Given the description of an element on the screen output the (x, y) to click on. 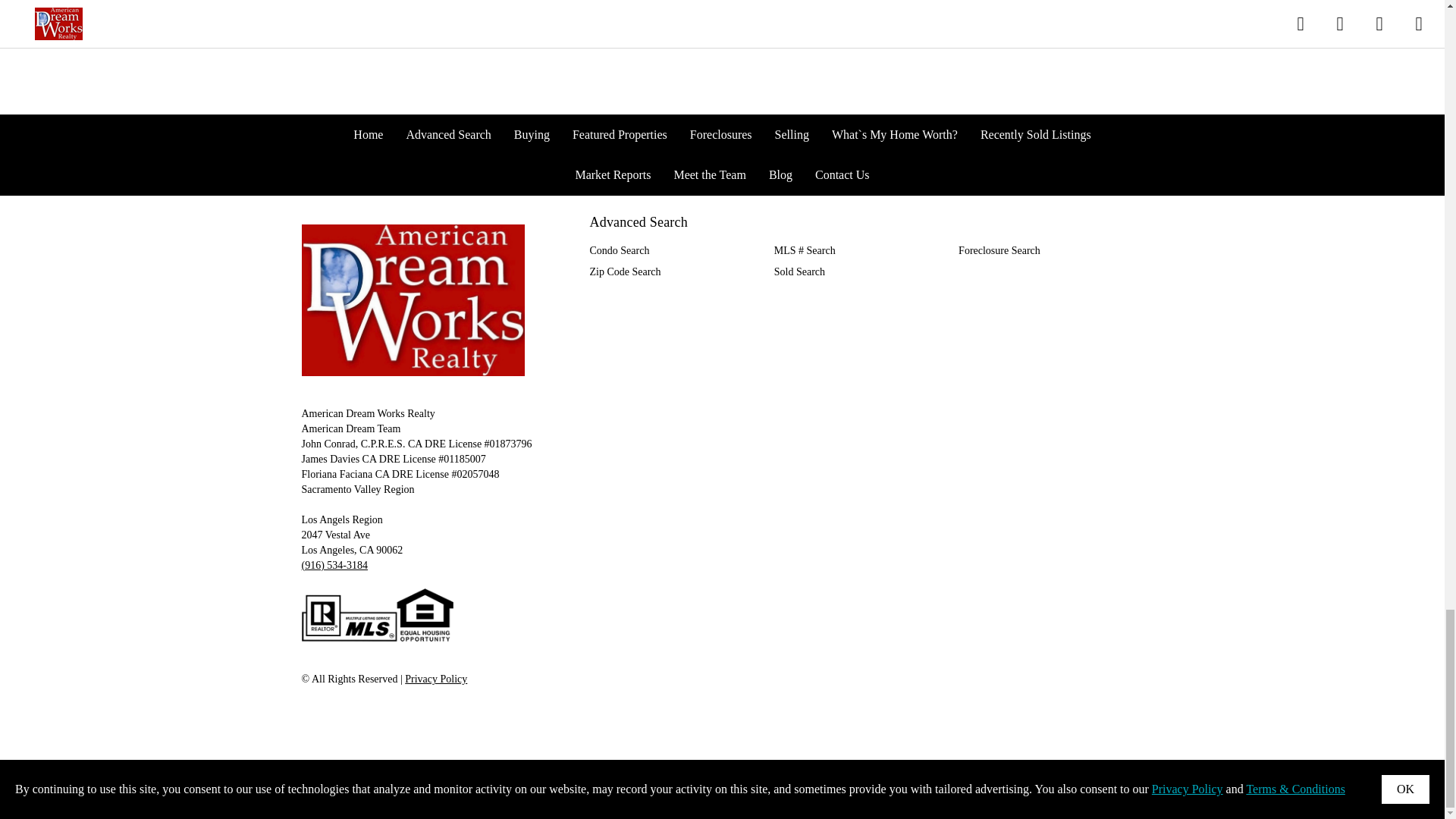
Logo (412, 299)
Phone Number (334, 564)
MLS Logo (376, 615)
